Given the description of an element on the screen output the (x, y) to click on. 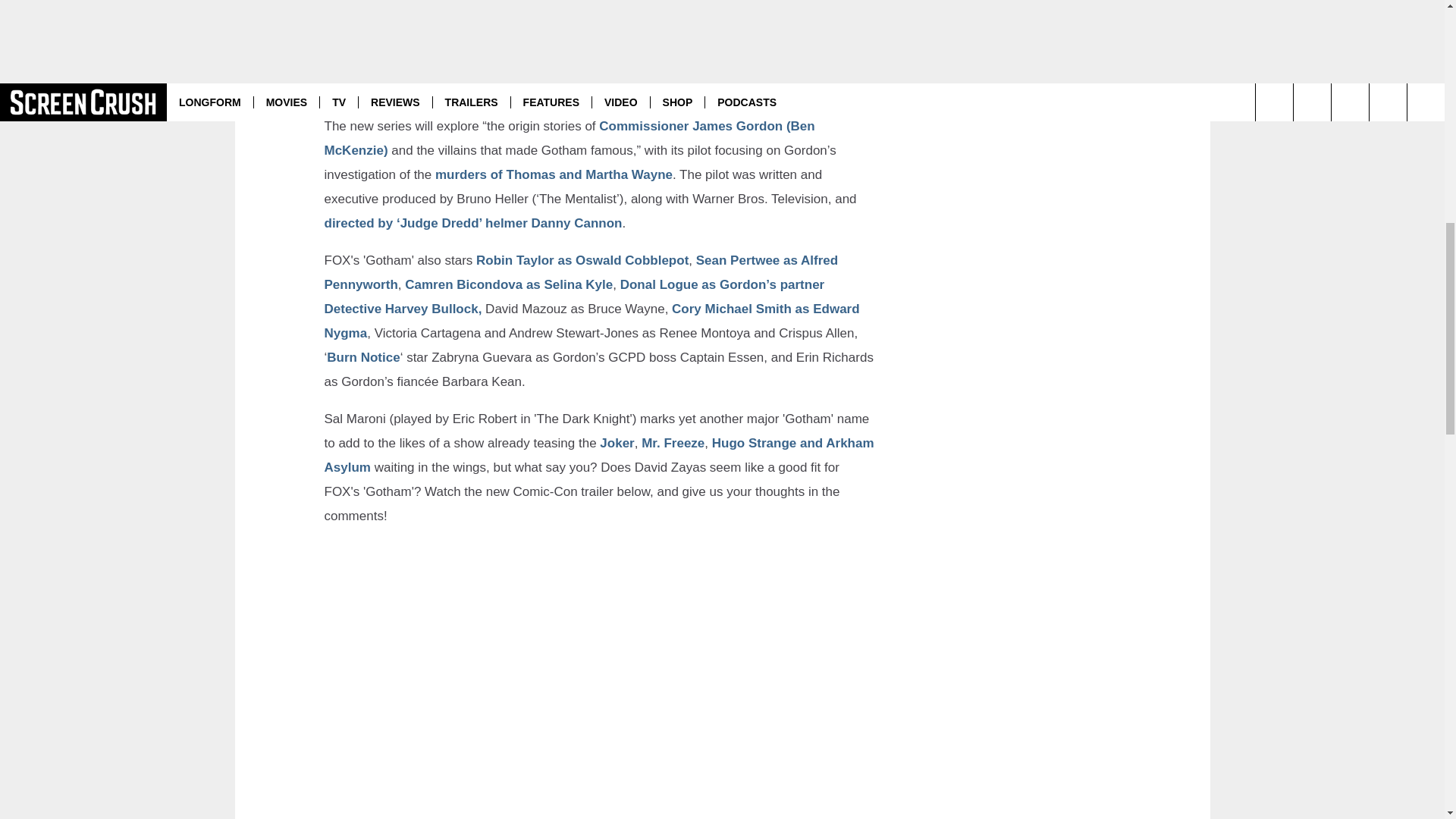
Hugo Strange and Arkham Asylum (599, 455)
murders of Thomas and Martha Wayne (553, 174)
Cory Michael Smith as Edward Nygma (592, 321)
Sean Pertwee as Alfred Pennyworth (581, 272)
Burn Notice (362, 357)
Joker (616, 442)
Robin Taylor as Oswald Cobblepot (582, 260)
Mr. Freeze (673, 442)
Camren Bicondova as Selina Kyle (508, 284)
